Given the description of an element on the screen output the (x, y) to click on. 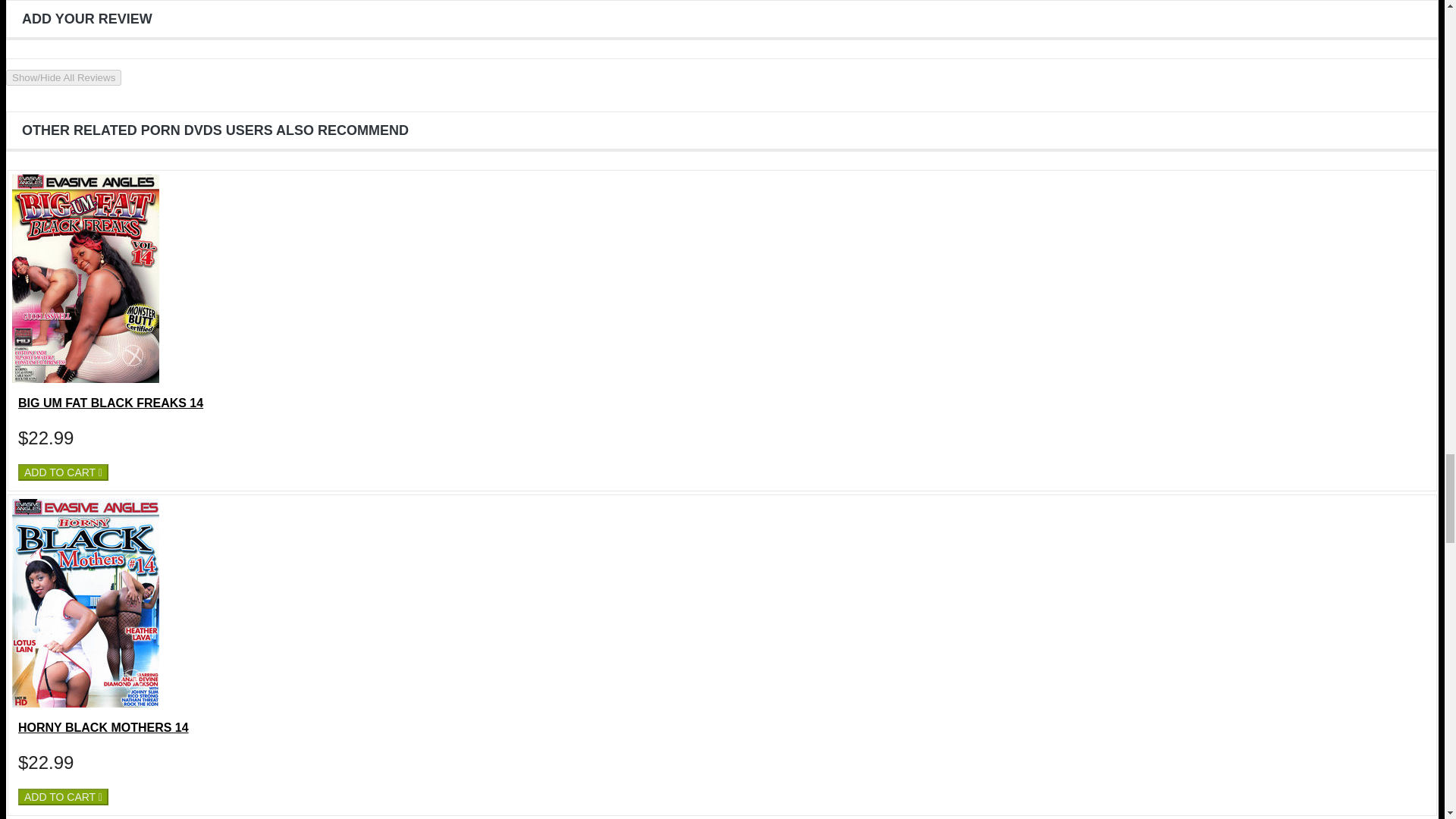
Big Um Fat Black Freaks 14 (84, 378)
